Given the description of an element on the screen output the (x, y) to click on. 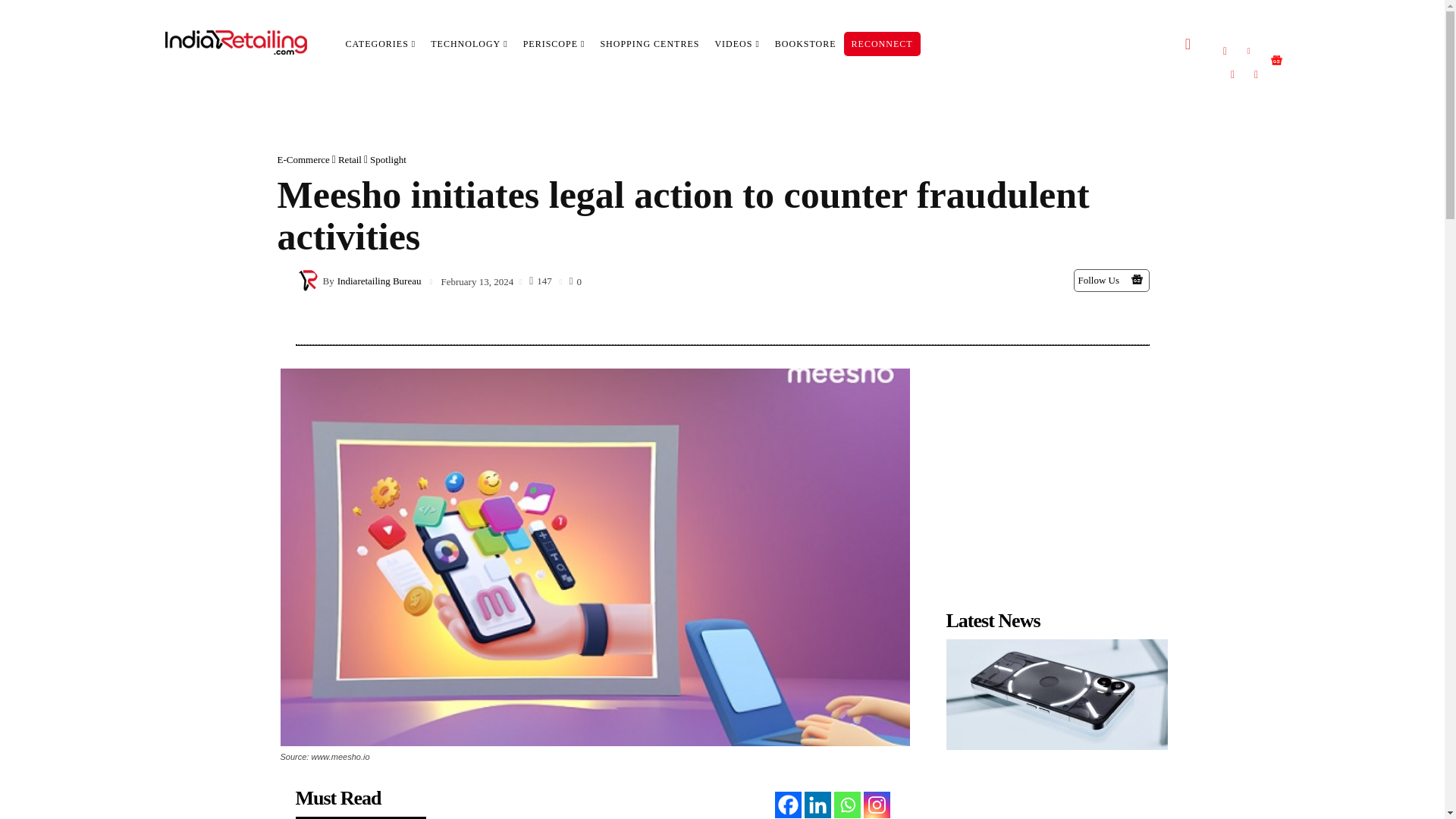
Instagram (1255, 73)
Linkedin (1248, 50)
Youtube (1232, 73)
Google News (1136, 279)
Facebook (1225, 50)
CATEGORIES (380, 43)
